Given the description of an element on the screen output the (x, y) to click on. 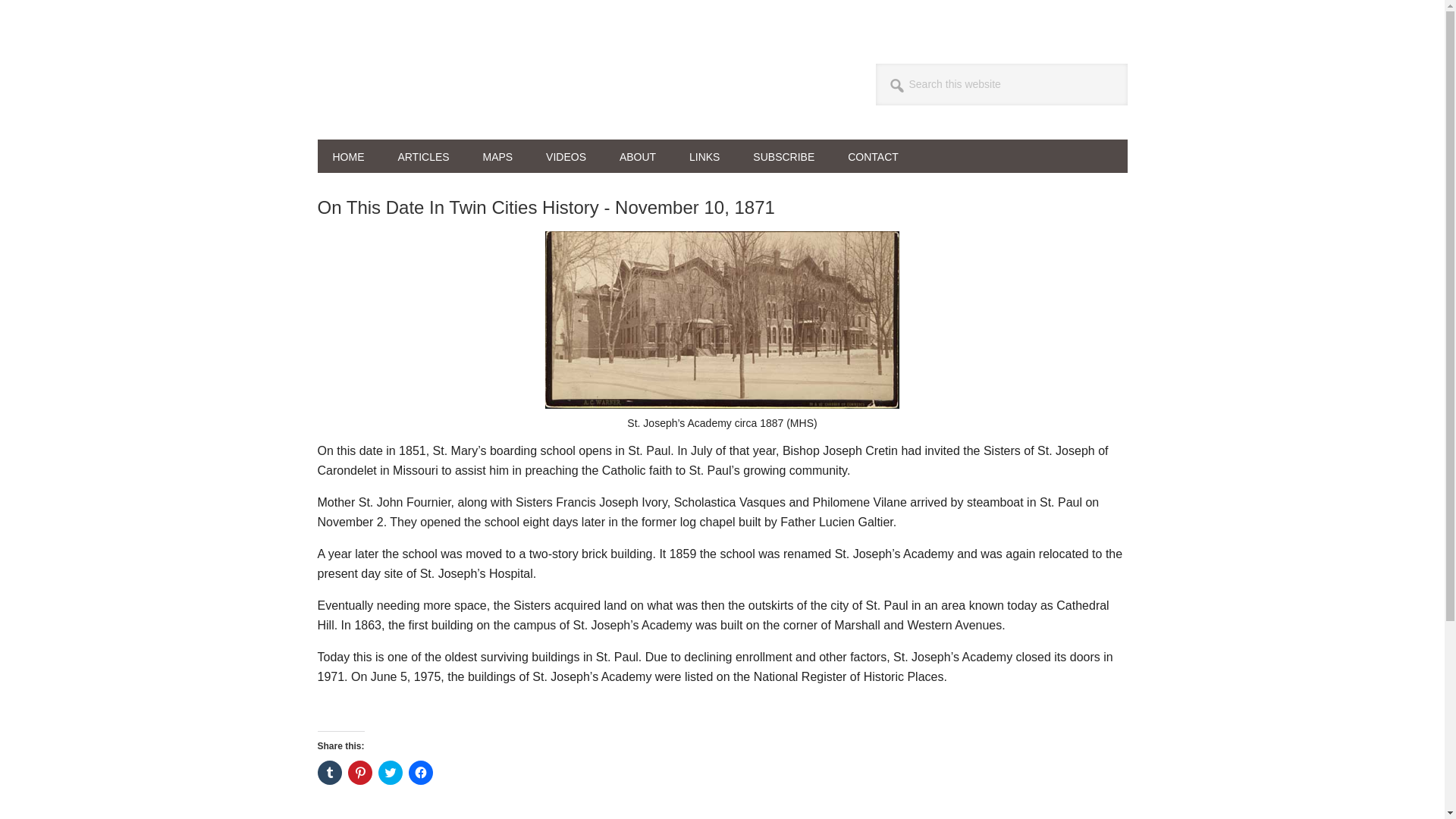
CONTACT (873, 155)
SUBSCRIBE (783, 155)
MAPS (497, 155)
VIDEOS (566, 155)
ABOUT (637, 155)
LINKS (704, 155)
HOME (347, 155)
Click to share on Pinterest (359, 772)
Click to share on Facebook (419, 772)
HISTORIC TWIN CITIES (419, 81)
Click to share on Tumblr (328, 772)
ARTICLES (422, 155)
Click to share on Twitter (389, 772)
